Given the description of an element on the screen output the (x, y) to click on. 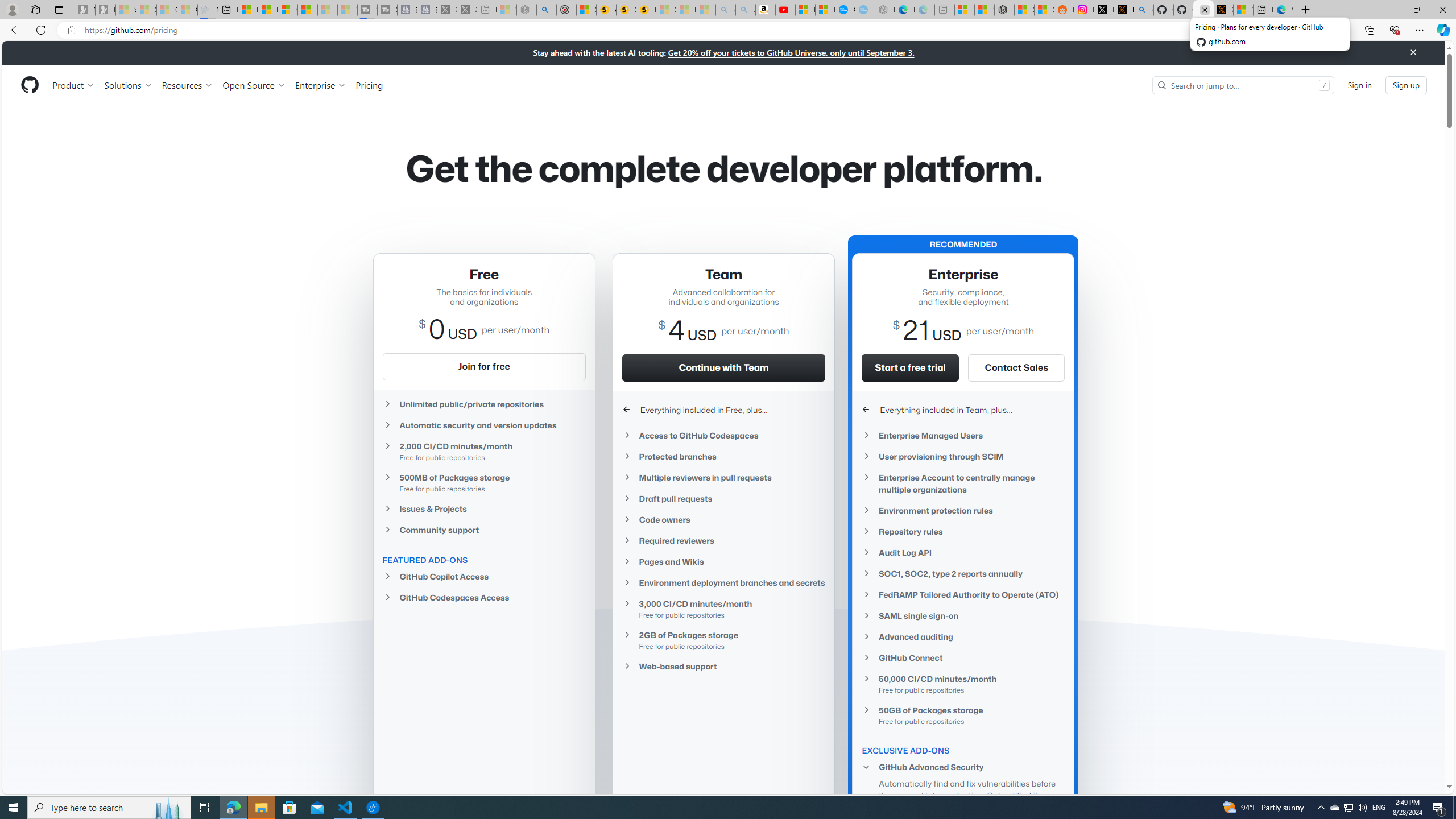
Enterprise (319, 84)
GitHub Copilot Access (483, 576)
Unlimited public/private repositories (483, 404)
Product (74, 84)
Protected branches (723, 456)
Protected branches (723, 456)
Everything included in Team, plus... (963, 409)
Community support (483, 529)
Unlimited public/private repositories (483, 404)
2GB of Packages storageFree for public repositories (723, 640)
